Given the description of an element on the screen output the (x, y) to click on. 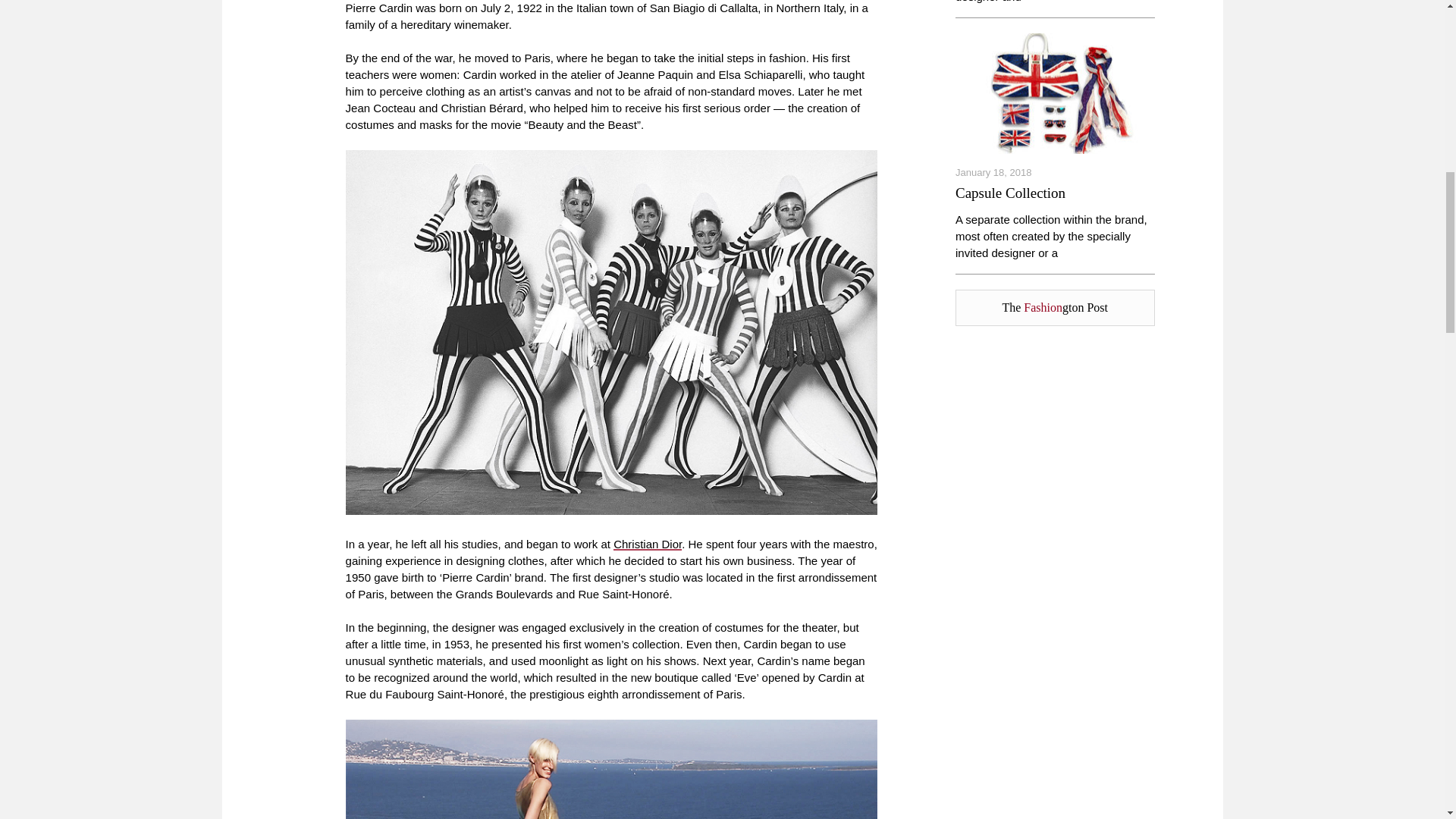
Christian Dior (646, 543)
